Given the description of an element on the screen output the (x, y) to click on. 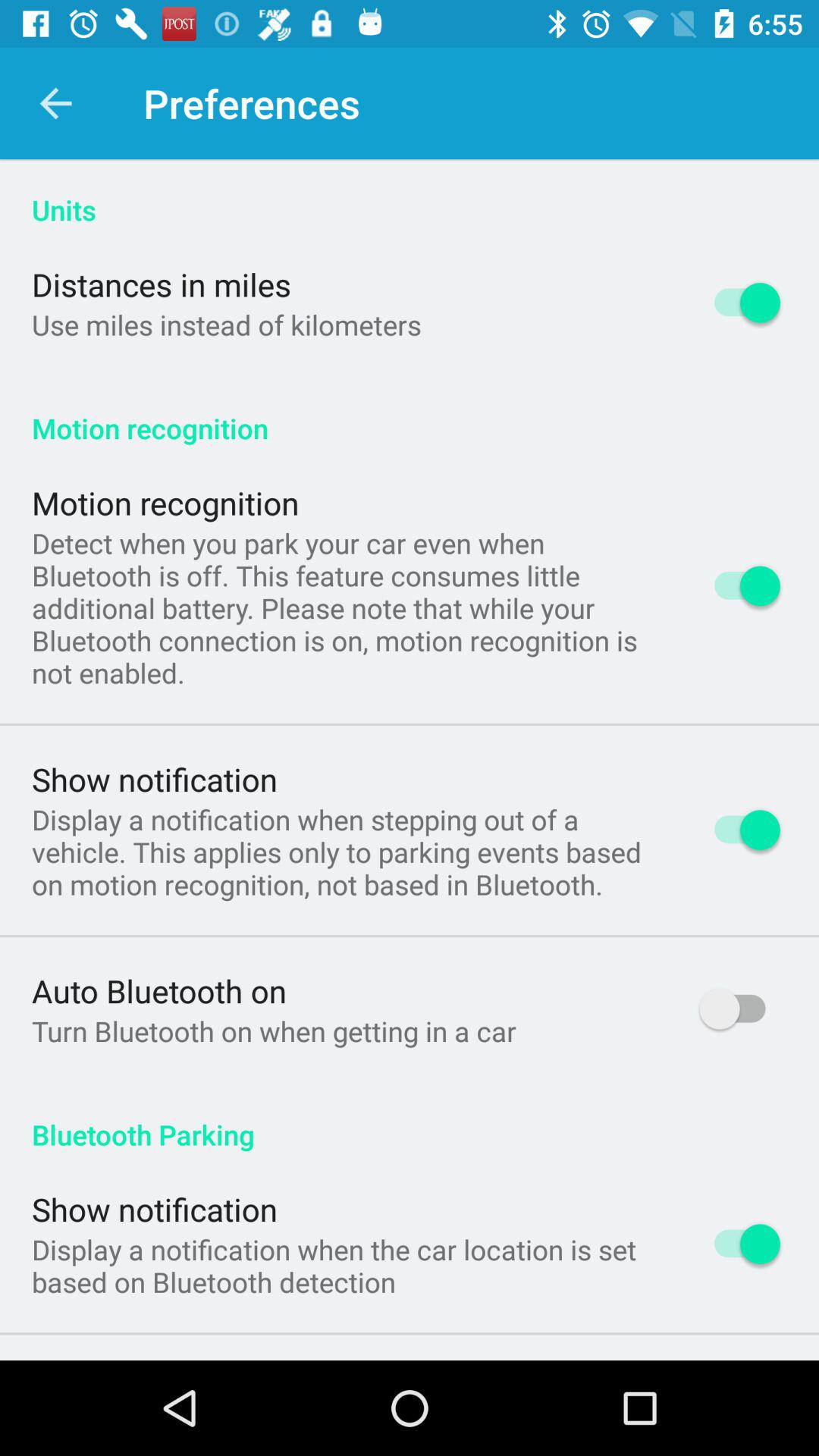
launch app above the units app (55, 103)
